Given the description of an element on the screen output the (x, y) to click on. 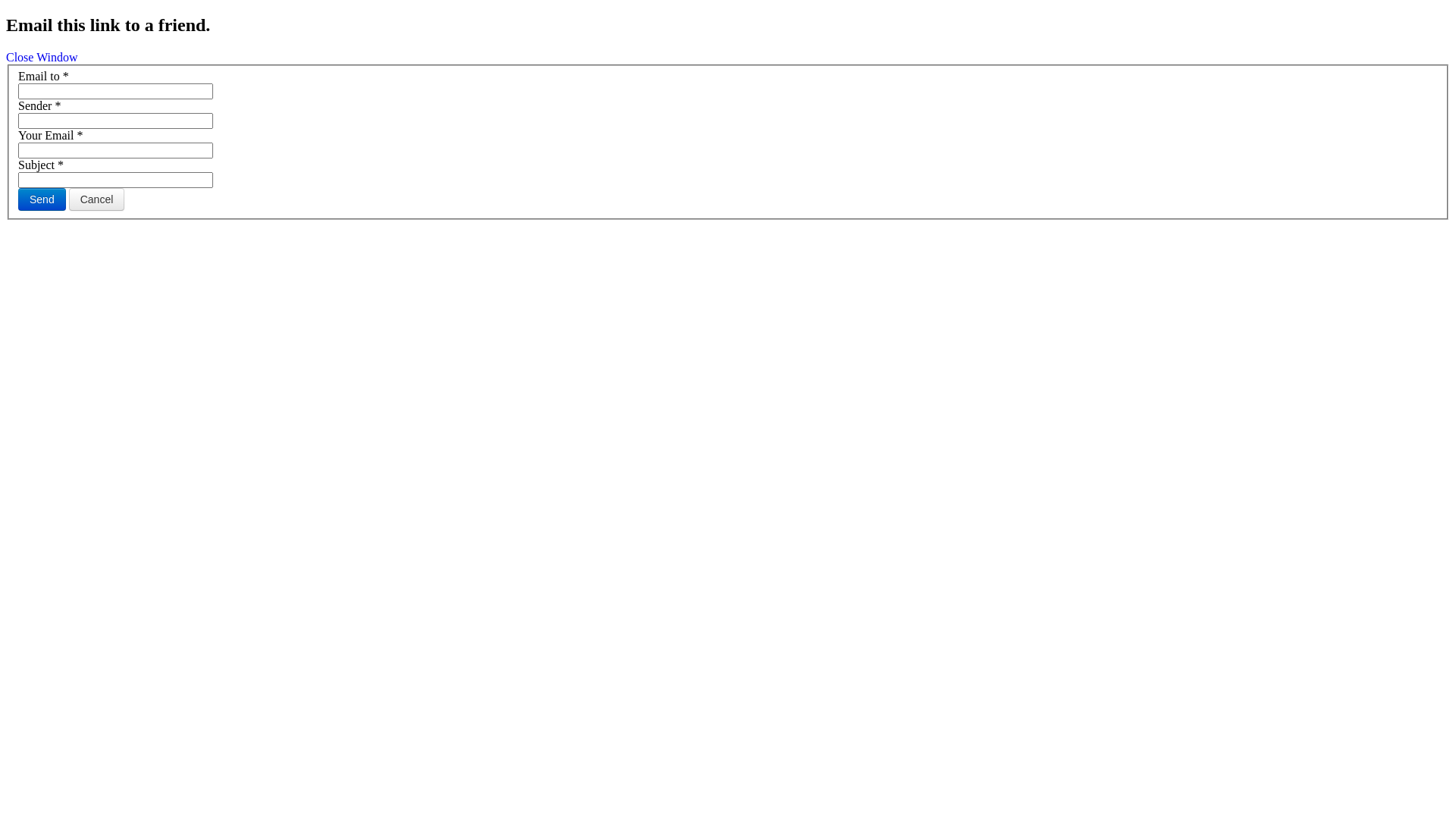
Send Element type: text (41, 199)
Close Window Element type: text (42, 56)
Cancel Element type: text (97, 199)
